Given the description of an element on the screen output the (x, y) to click on. 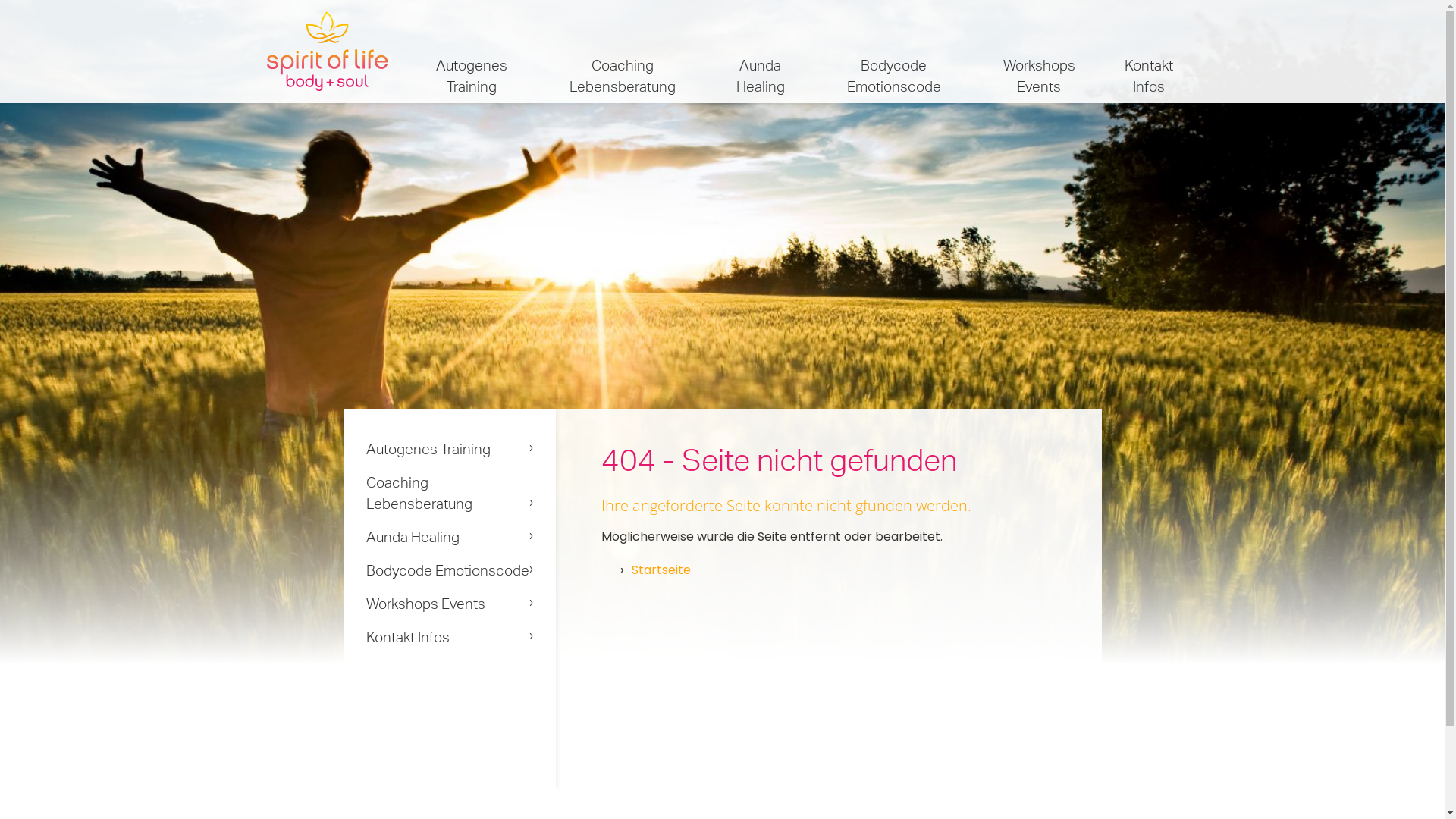
Startseite Element type: text (660, 570)
Kontakt Infos Element type: text (1148, 51)
Bodycode Emotionscode Element type: text (894, 51)
Bodycode Emotionscode Element type: text (448, 569)
Autogenes Training Element type: text (471, 51)
Workshops Events Element type: text (1038, 51)
Coaching Lebensberatung Element type: text (622, 51)
Workshops Events Element type: text (448, 603)
Kontakt Infos Element type: text (448, 636)
Aunda Healing Element type: text (760, 51)
Aunda Healing Element type: text (448, 536)
Autogenes Training Element type: text (448, 448)
Coaching Lebensberatung Element type: text (448, 492)
